Given the description of an element on the screen output the (x, y) to click on. 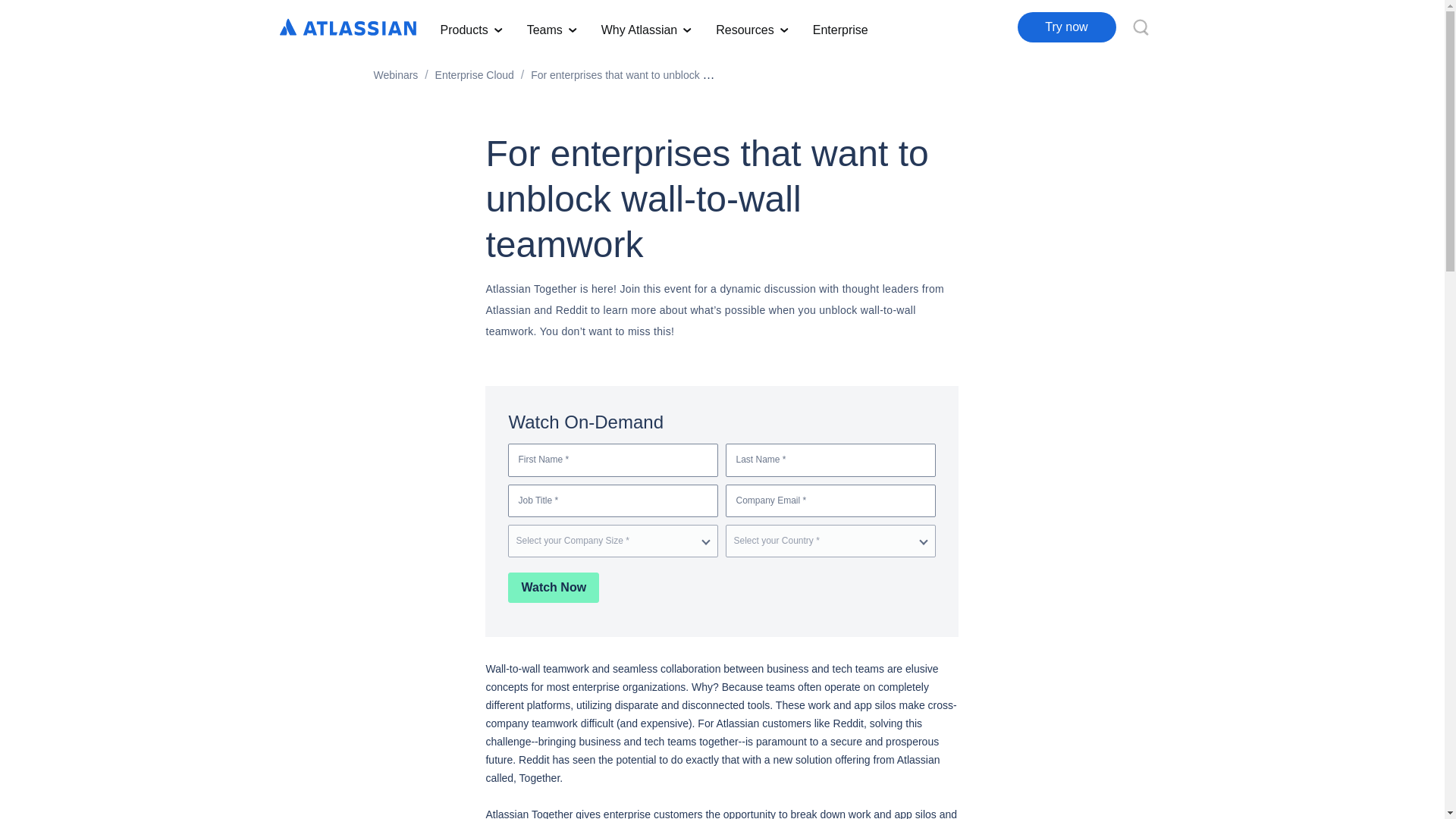
Products (470, 27)
